Given the description of an element on the screen output the (x, y) to click on. 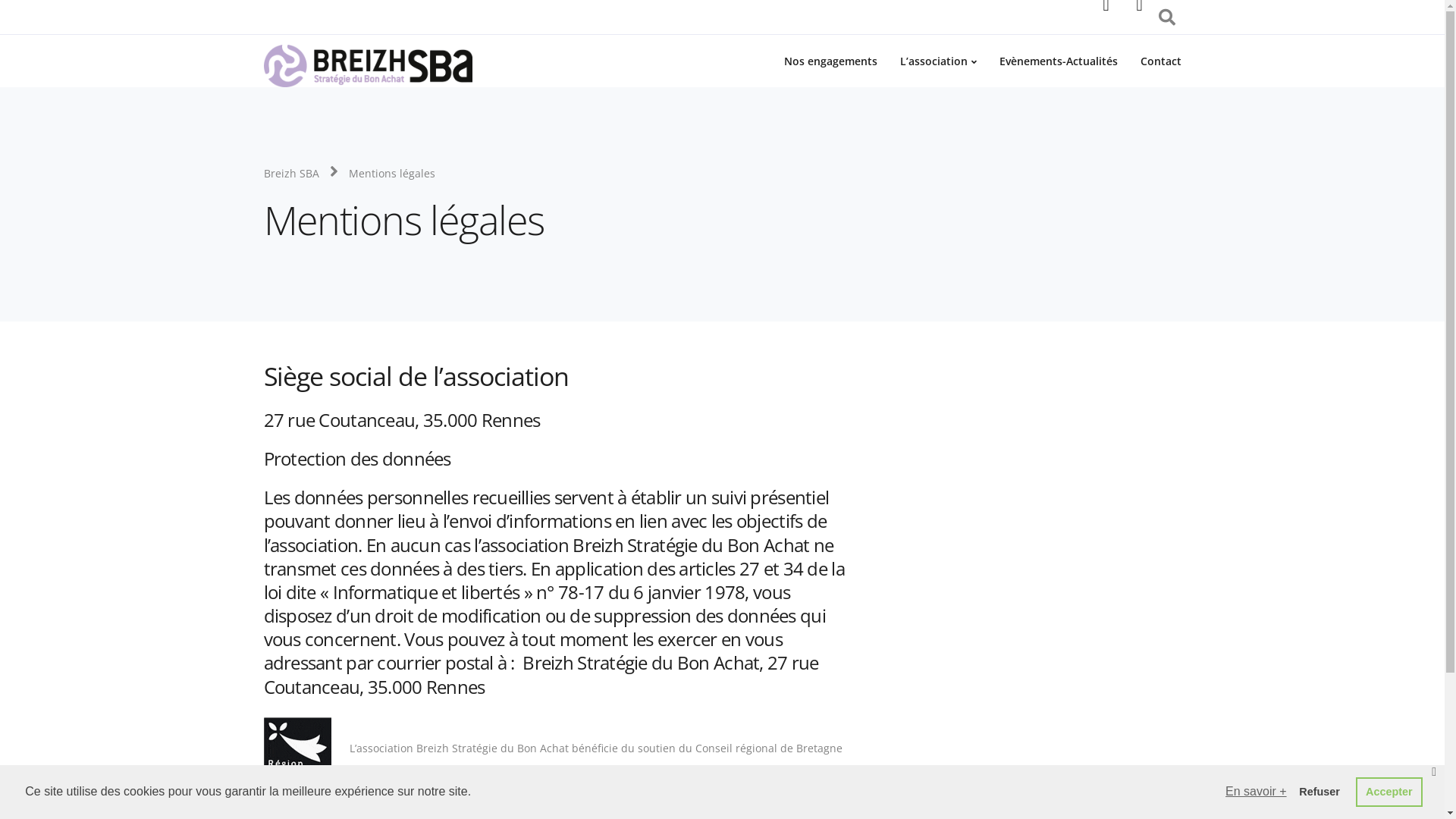
Accepter Element type: text (1389, 791)
Contact Element type: text (1160, 60)
Refuser Element type: text (1319, 791)
Breizh SBA Element type: text (291, 173)
Contact Element type: text (807, 790)
Nos engagements Element type: text (829, 60)
En savoir + Element type: text (1256, 791)
